Given the description of an element on the screen output the (x, y) to click on. 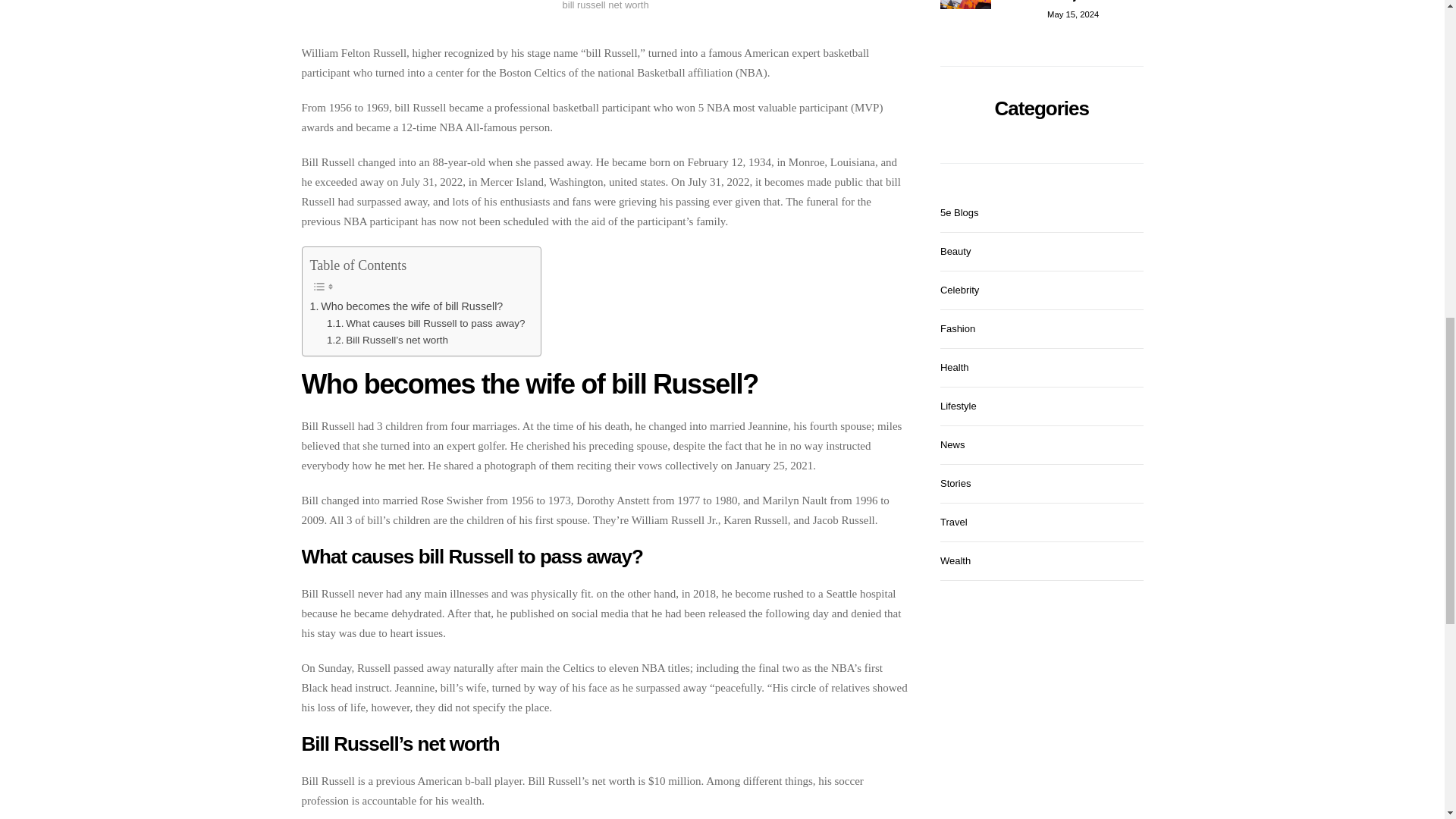
What causes bill Russell to pass away? (425, 323)
4 Creative Uses for Your Shuttle Bus Conversion Project (1041, 11)
Who becomes the wife of bill Russell? (405, 306)
Who becomes the wife of bill Russell? (405, 306)
What causes bill Russell to pass away? (425, 323)
